Given the description of an element on the screen output the (x, y) to click on. 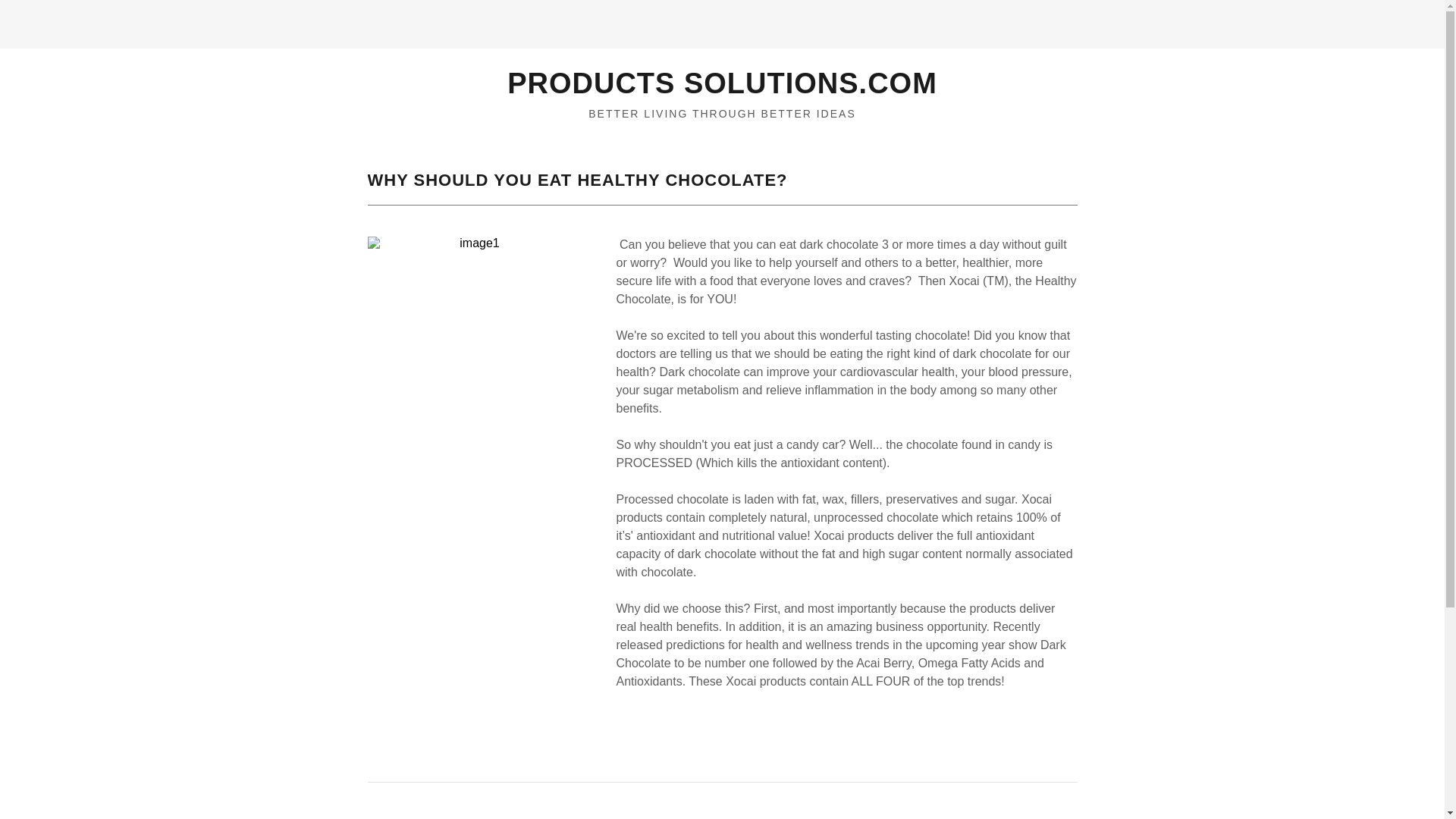
Products Solutions.com (721, 83)
PRODUCTS SOLUTIONS.COM (721, 83)
